Given the description of an element on the screen output the (x, y) to click on. 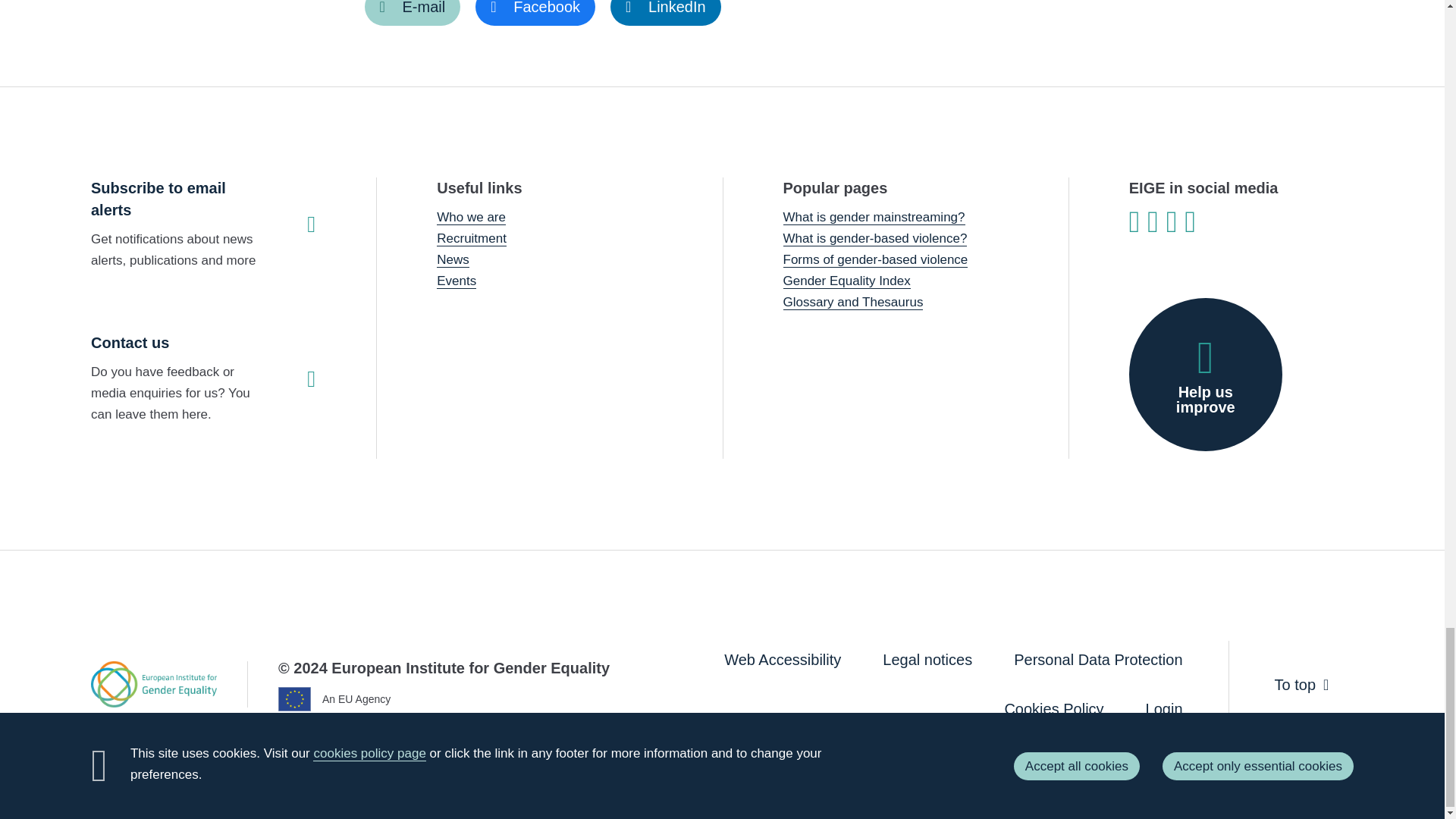
Facebook (535, 12)
LinkedIn (665, 12)
E-mail (412, 12)
